Given the description of an element on the screen output the (x, y) to click on. 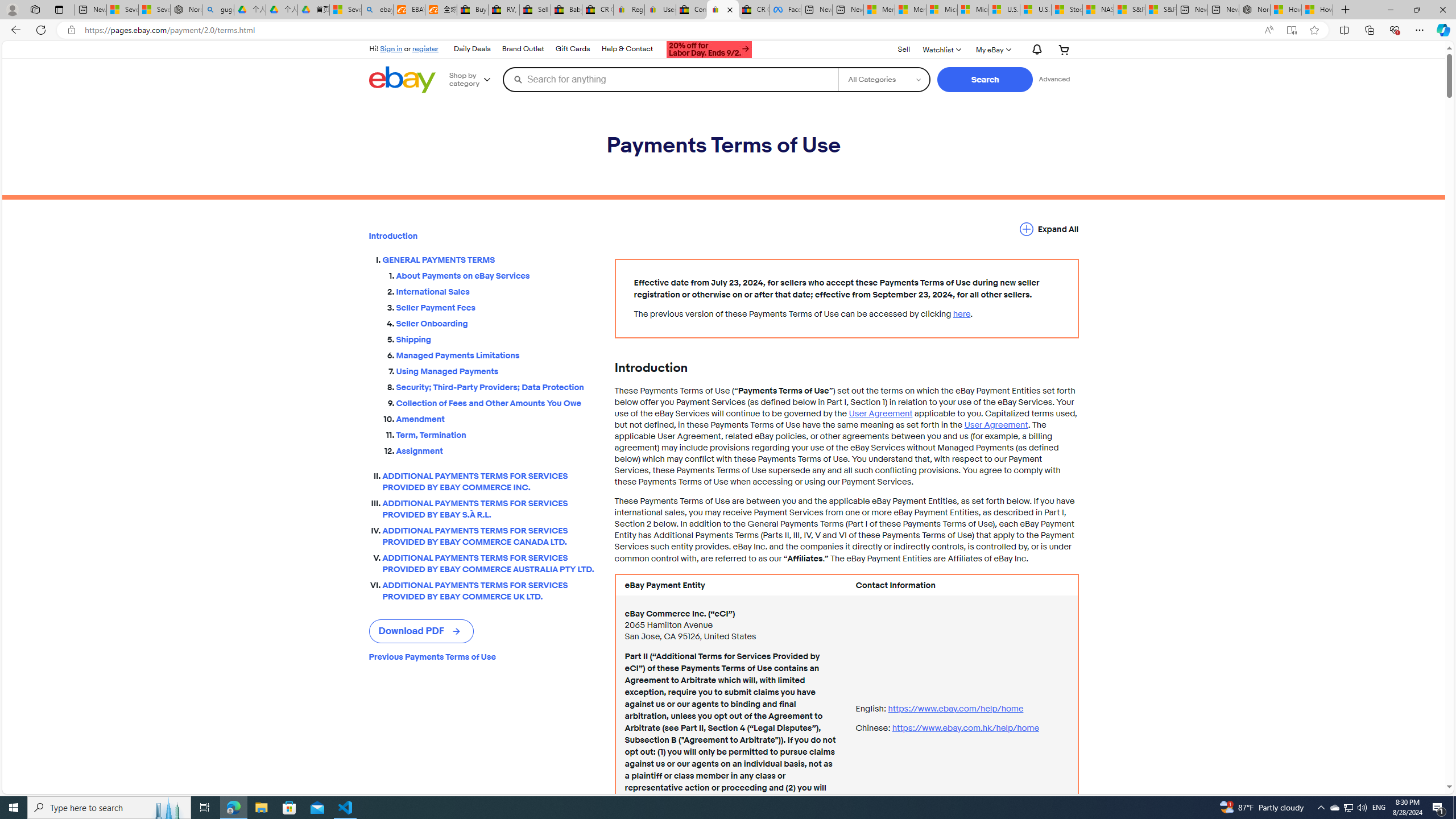
https://www.ebay.com.hk/ help/home (965, 727)
About Payments on eBay Services (496, 273)
Get the coupon now (709, 49)
Watchlist (940, 49)
Amendment (496, 419)
